Given the description of an element on the screen output the (x, y) to click on. 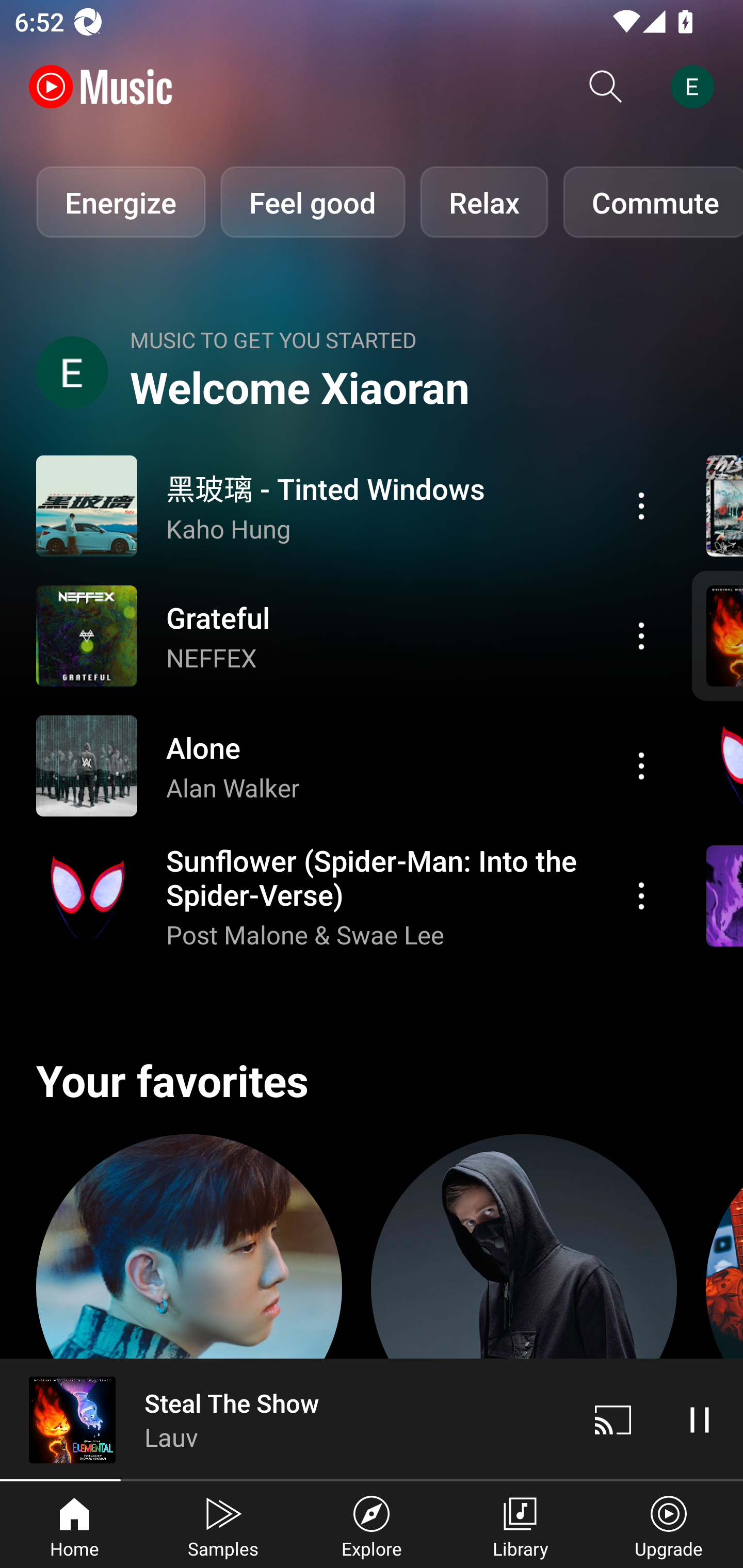
Search (605, 86)
Account (696, 86)
Action menu (349, 505)
Action menu (641, 505)
Action menu (349, 635)
Action menu (641, 635)
Action menu (349, 765)
Action menu (641, 765)
Action menu (349, 896)
Action menu (641, 896)
Steal The Show Lauv (284, 1419)
Cast. Disconnected (612, 1419)
Pause video (699, 1419)
Samples (222, 1524)
Explore (371, 1524)
Library (519, 1524)
Upgrade (668, 1524)
